Given the description of an element on the screen output the (x, y) to click on. 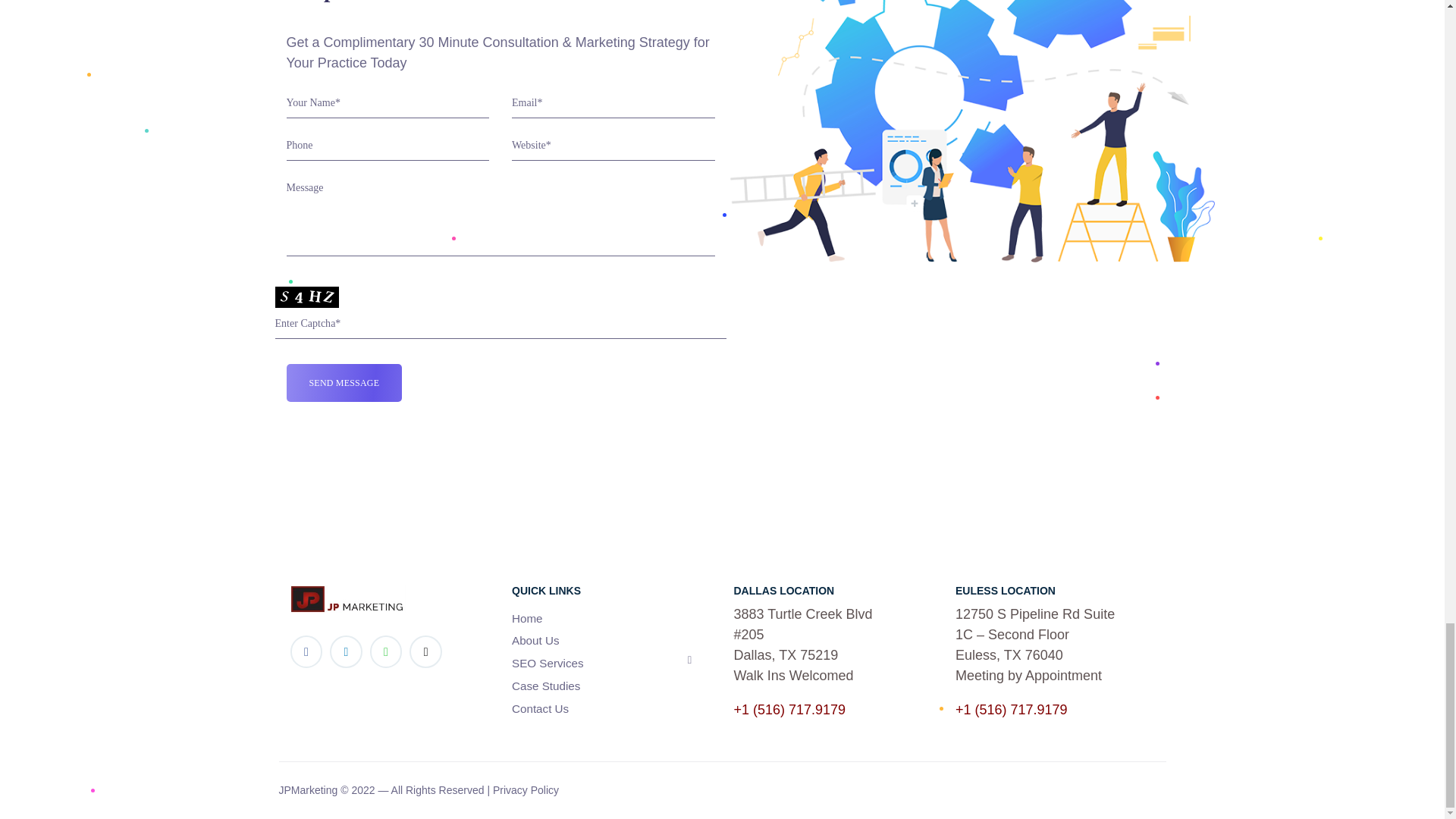
JP Marketing - SEO specialist in Houston, Texas (346, 598)
SEO marketing team in Dallas, TX (971, 131)
Send Message (344, 382)
